Given the description of an element on the screen output the (x, y) to click on. 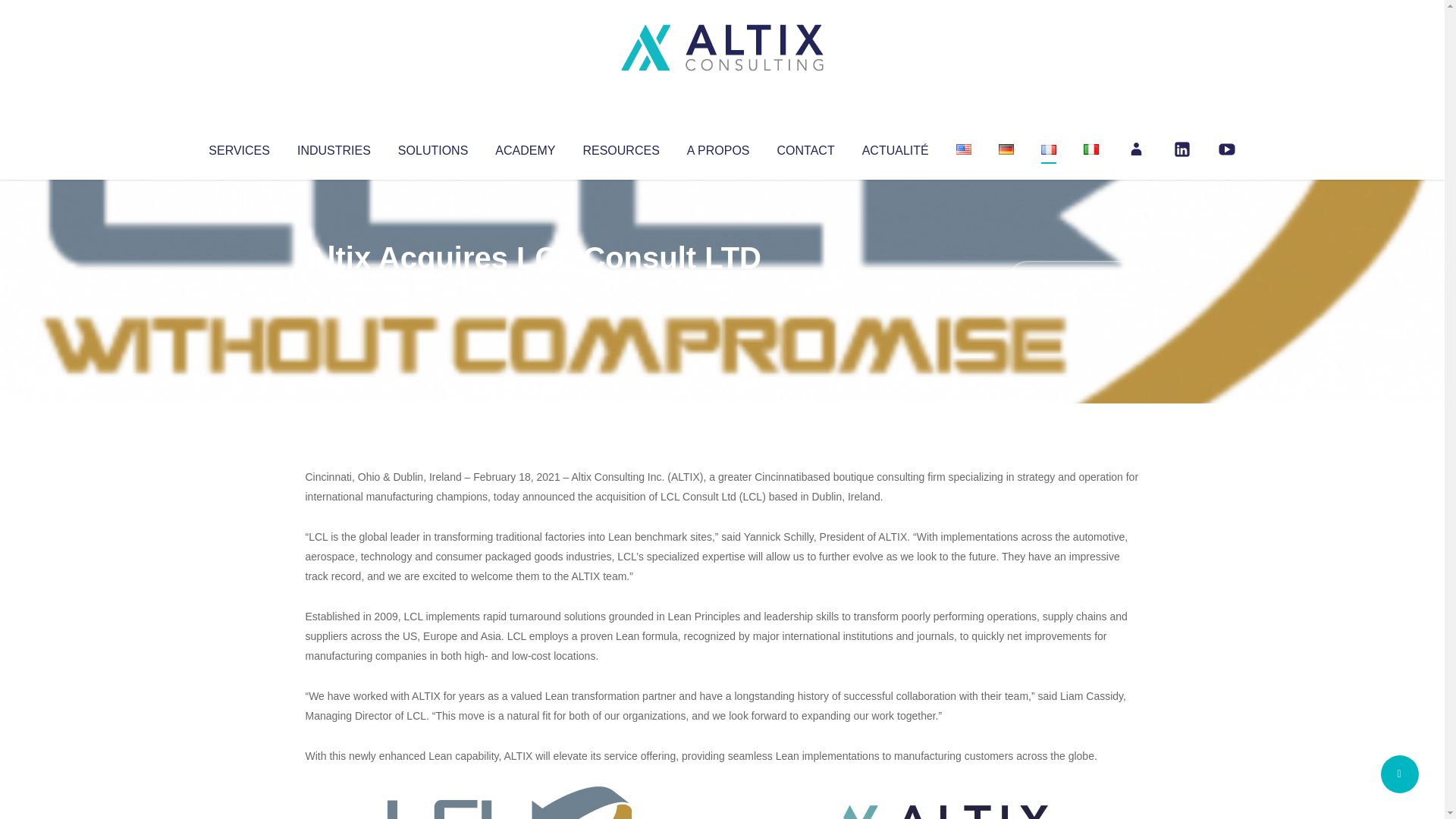
RESOURCES (620, 146)
ACADEMY (524, 146)
SOLUTIONS (432, 146)
INDUSTRIES (334, 146)
A PROPOS (718, 146)
No Comments (1073, 278)
SERVICES (238, 146)
Articles par Altix (333, 287)
Uncategorized (530, 287)
Altix (333, 287)
